Given the description of an element on the screen output the (x, y) to click on. 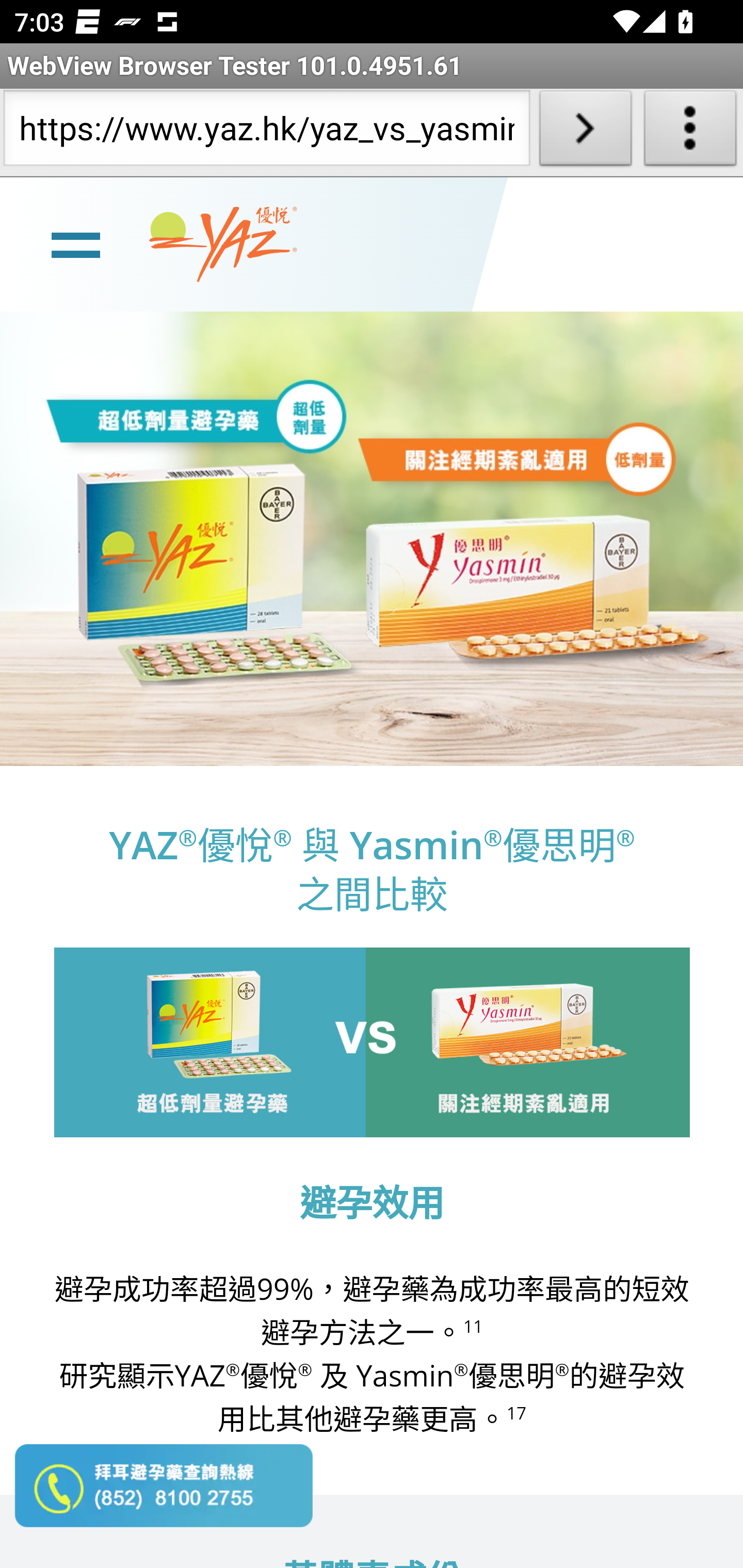
Load URL (585, 132)
About WebView (690, 132)
www.yaz (222, 244)
line Toggle burger menu (75, 242)
